Given the description of an element on the screen output the (x, y) to click on. 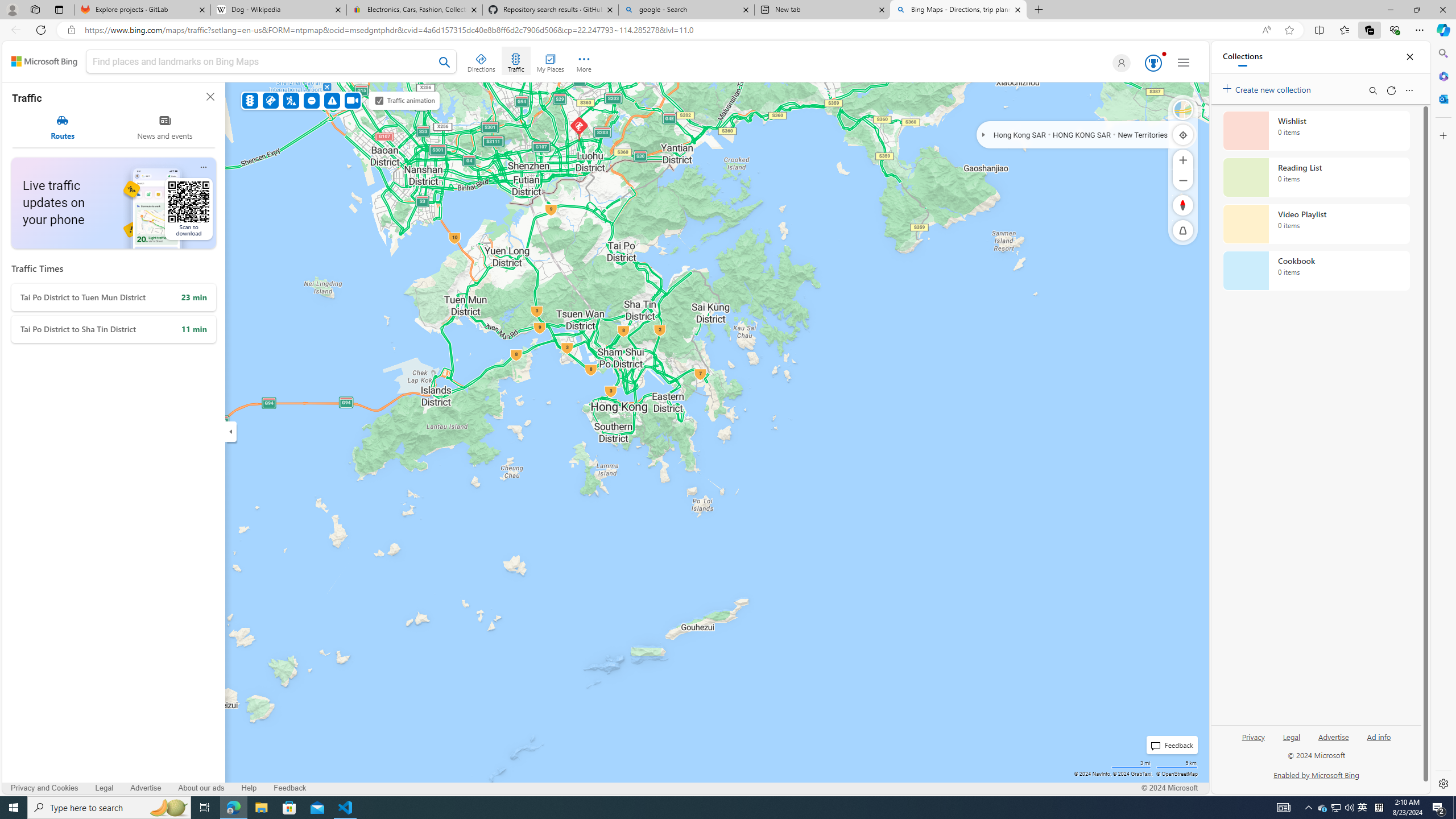
My Places (549, 60)
Directions (481, 60)
Animation (1163, 53)
Default Profile Picture (1121, 63)
Privacy and Cookies (44, 787)
Traffic animation (378, 100)
Reading List collection, 0 items (1316, 177)
Select Style (1182, 109)
